Given the description of an element on the screen output the (x, y) to click on. 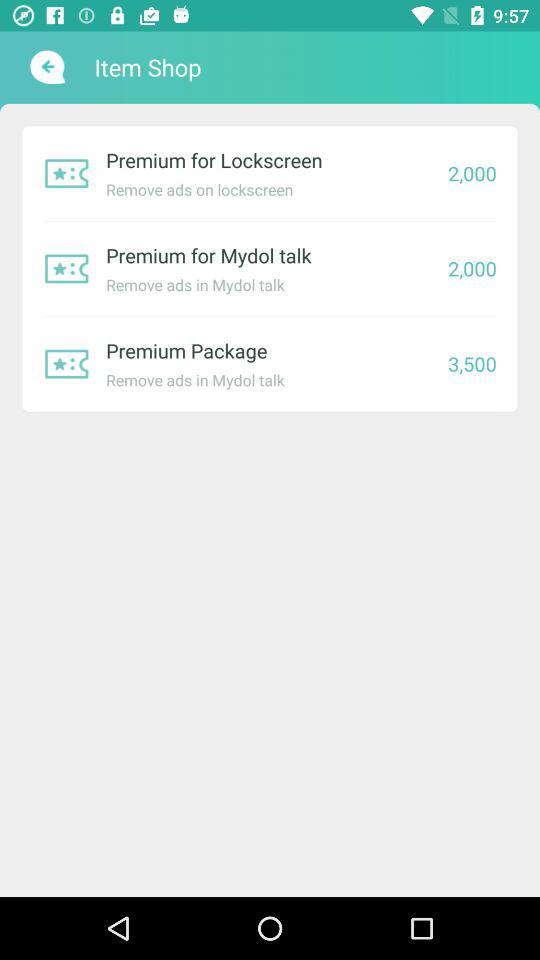
open icon to the left of the item shop item (45, 67)
